Given the description of an element on the screen output the (x, y) to click on. 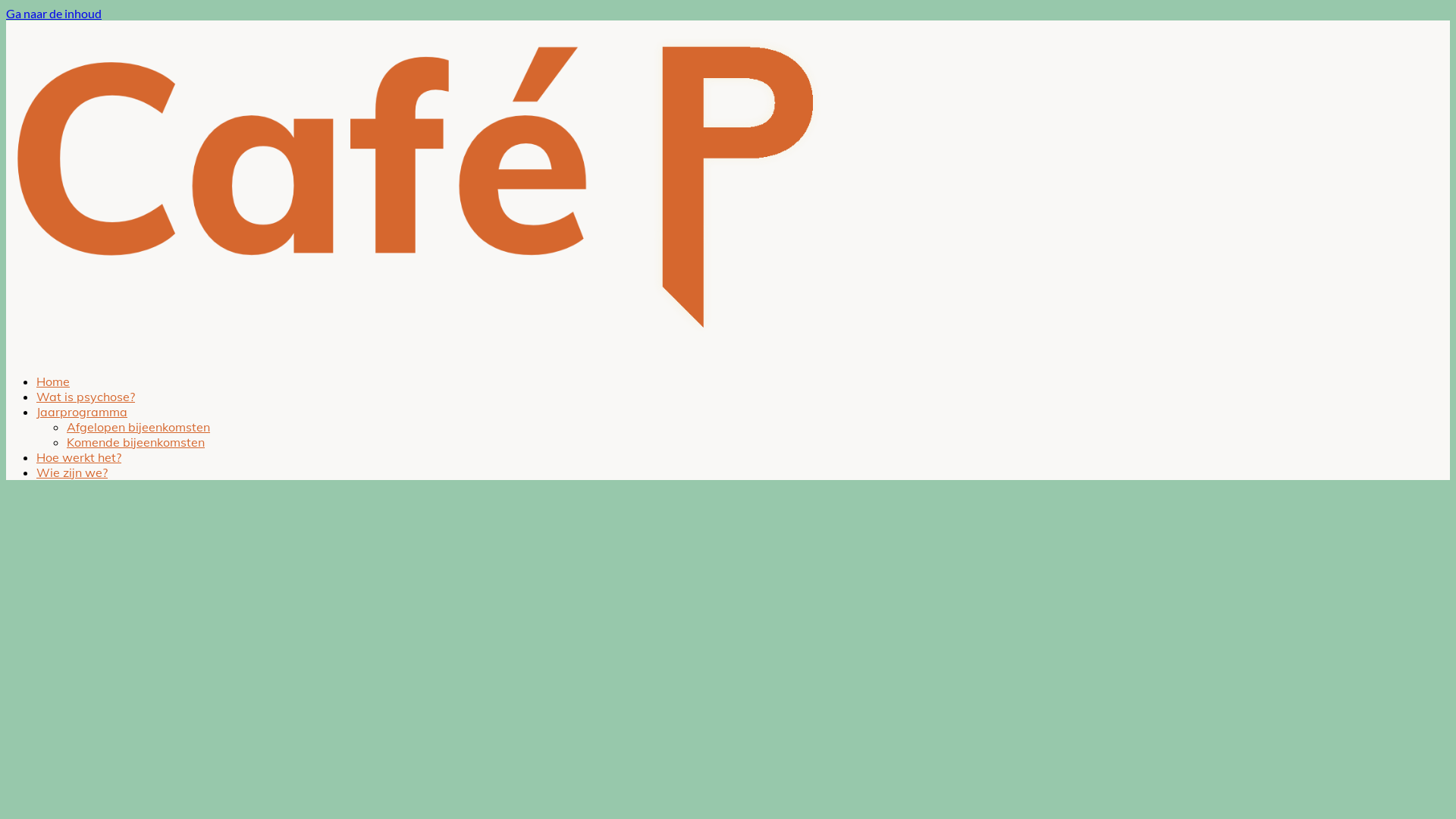
Komende bijeenkomsten Element type: text (135, 441)
Afgelopen bijeenkomsten Element type: text (138, 426)
Ga naar de inhoud Element type: text (53, 13)
Cafe P Element type: hover (415, 353)
Home Element type: text (52, 381)
Wat is psychose? Element type: text (85, 396)
Wie zijn we? Element type: text (71, 472)
Jaarprogramma Element type: text (81, 411)
Hoe werkt het? Element type: text (78, 456)
